Given the description of an element on the screen output the (x, y) to click on. 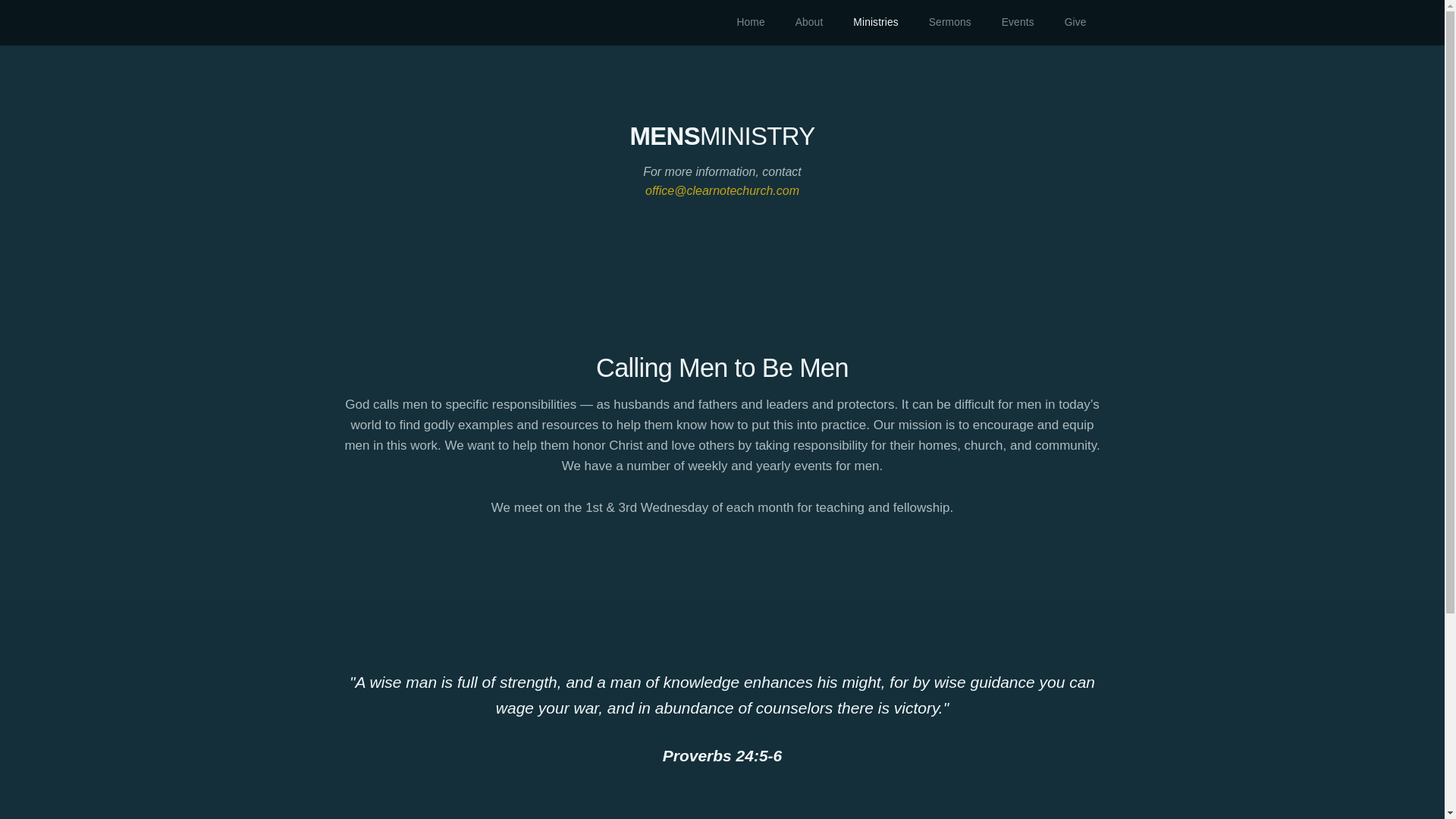
Sermons (950, 22)
Give (1075, 22)
Events (1018, 22)
About (809, 22)
Ministries (875, 22)
Home (751, 22)
